Given the description of an element on the screen output the (x, y) to click on. 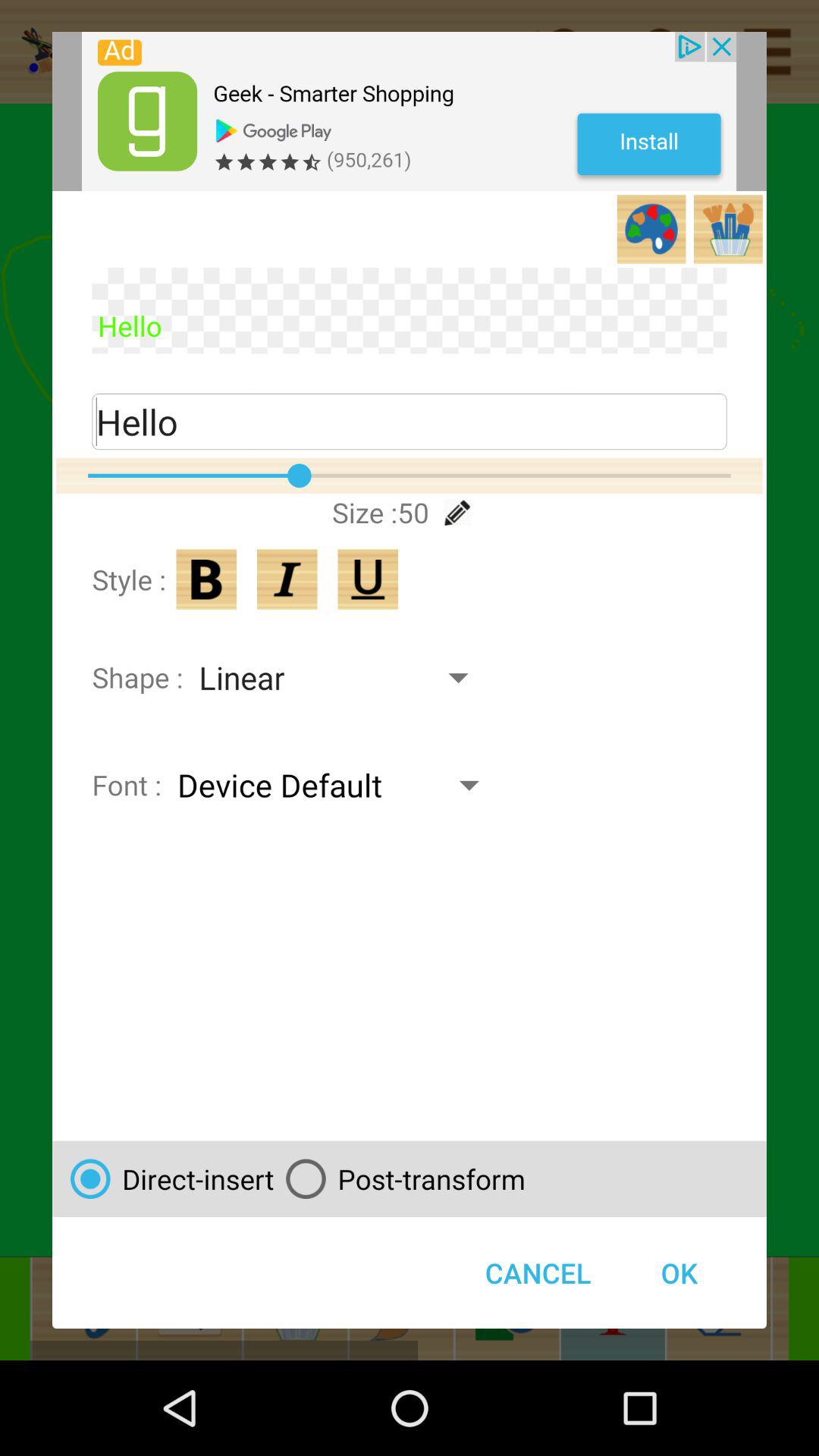
open the advertisement (408, 111)
